Given the description of an element on the screen output the (x, y) to click on. 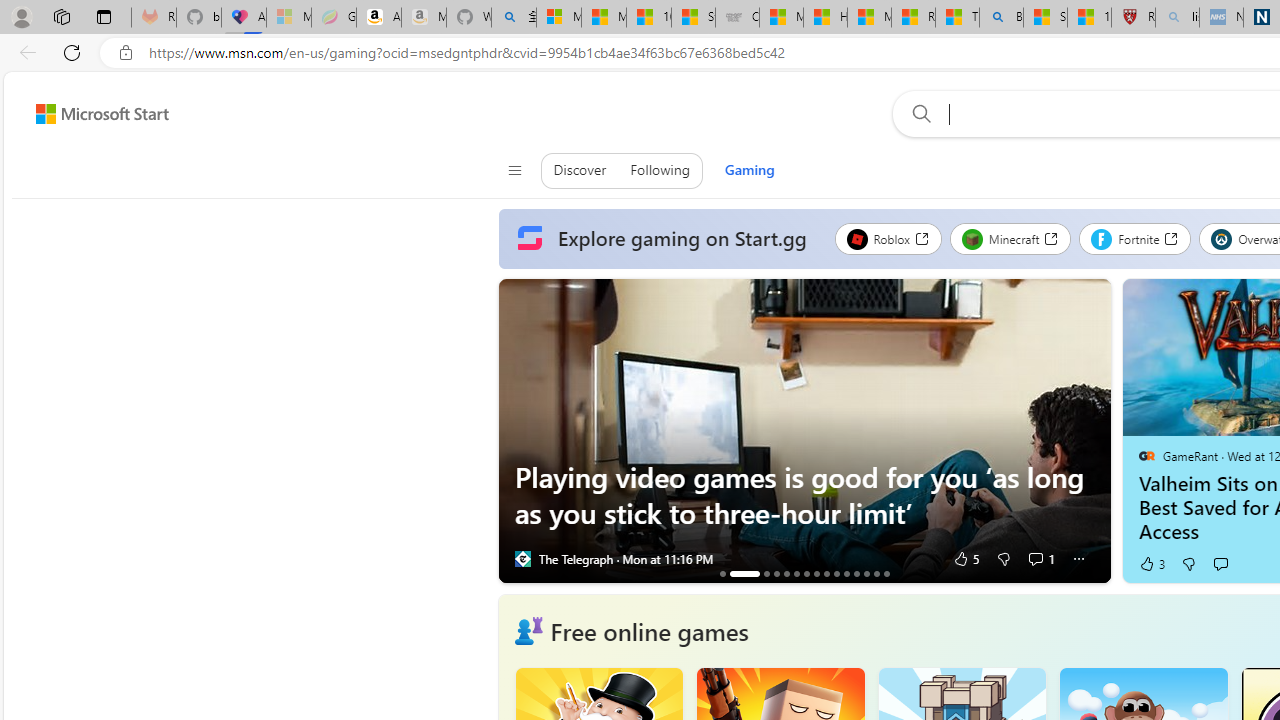
Free online games (649, 630)
Personal Profile (21, 16)
Roblox (887, 238)
How I Got Rid of Microsoft Edge's Unnecessary Features (825, 17)
GameRant (1145, 455)
NCL Adult Asthma Inhaler Choice Guideline - Sleeping (1220, 17)
AutomationID: casualCarouselIcon (528, 631)
3 Like (1151, 564)
Where Will Nvidia Stock Be in 3 Years? (776, 573)
Microsoft Start (868, 17)
Following (659, 170)
